Given the description of an element on the screen output the (x, y) to click on. 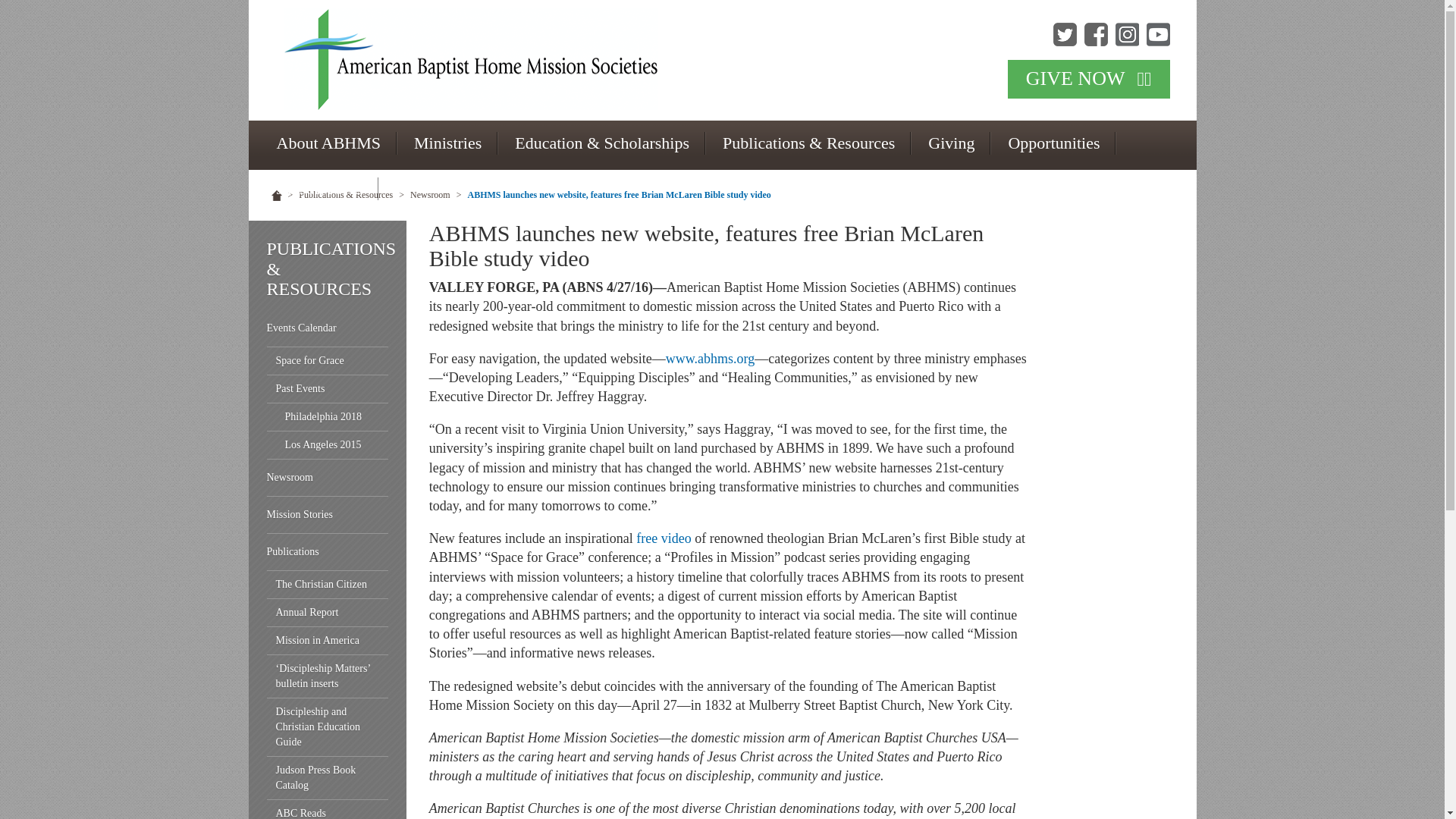
Judson Press (318, 188)
About ABHMS (328, 142)
Mission Stories (327, 514)
ABC Reads (327, 809)
Discipleship and Christian Education Guide (327, 727)
Newsroom (327, 477)
Opportunities (1053, 142)
Newsroom (430, 194)
Mission in America (327, 641)
Publications (327, 551)
The Christian Citizen (327, 584)
Ministries (447, 142)
Annual Report (327, 612)
Events Calendar (327, 328)
GIVE NOW (1088, 78)
